Given the description of an element on the screen output the (x, y) to click on. 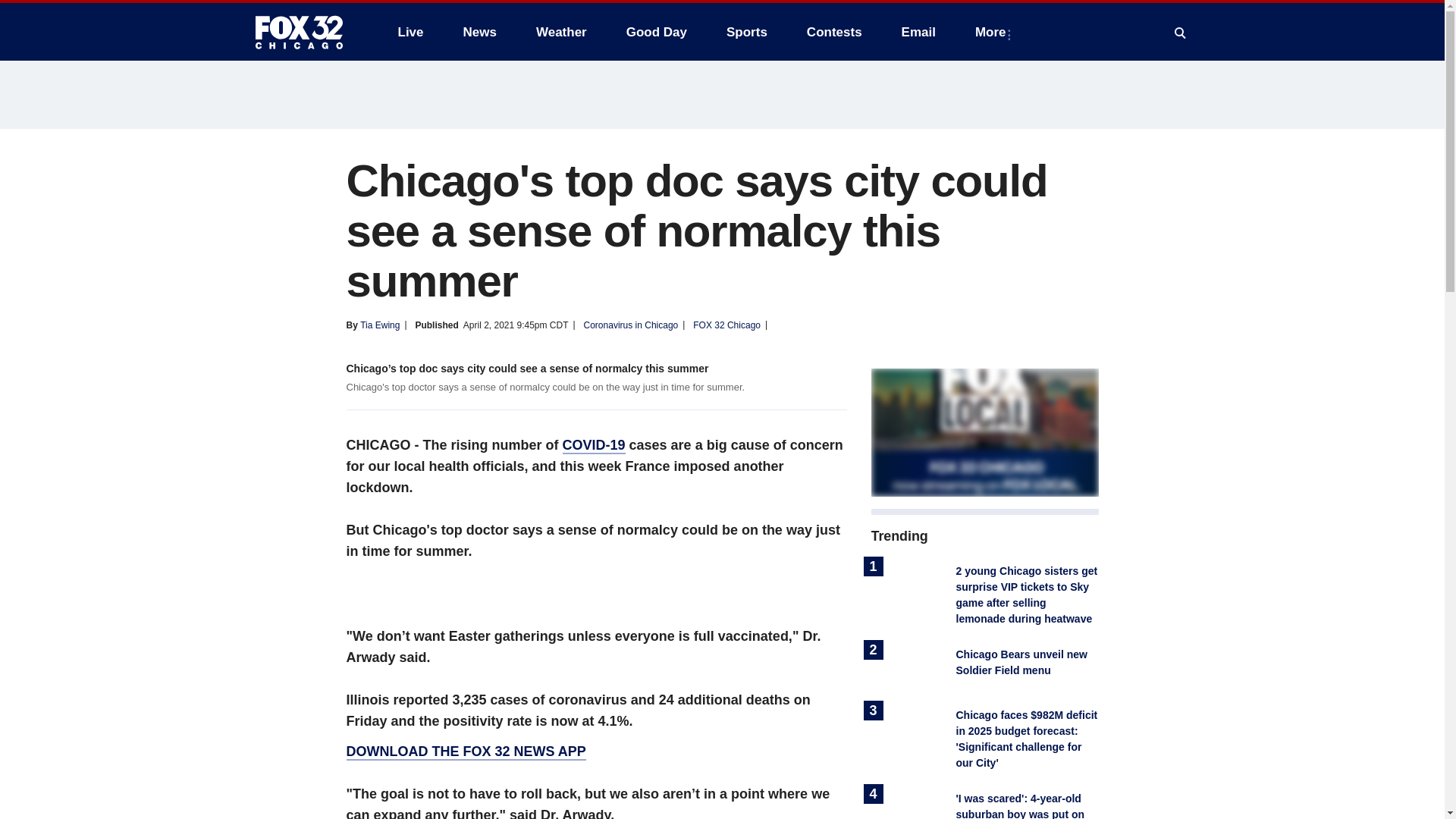
Email (918, 32)
More (993, 32)
Weather (561, 32)
Sports (746, 32)
Contests (834, 32)
Good Day (656, 32)
News (479, 32)
Live (410, 32)
